Given the description of an element on the screen output the (x, y) to click on. 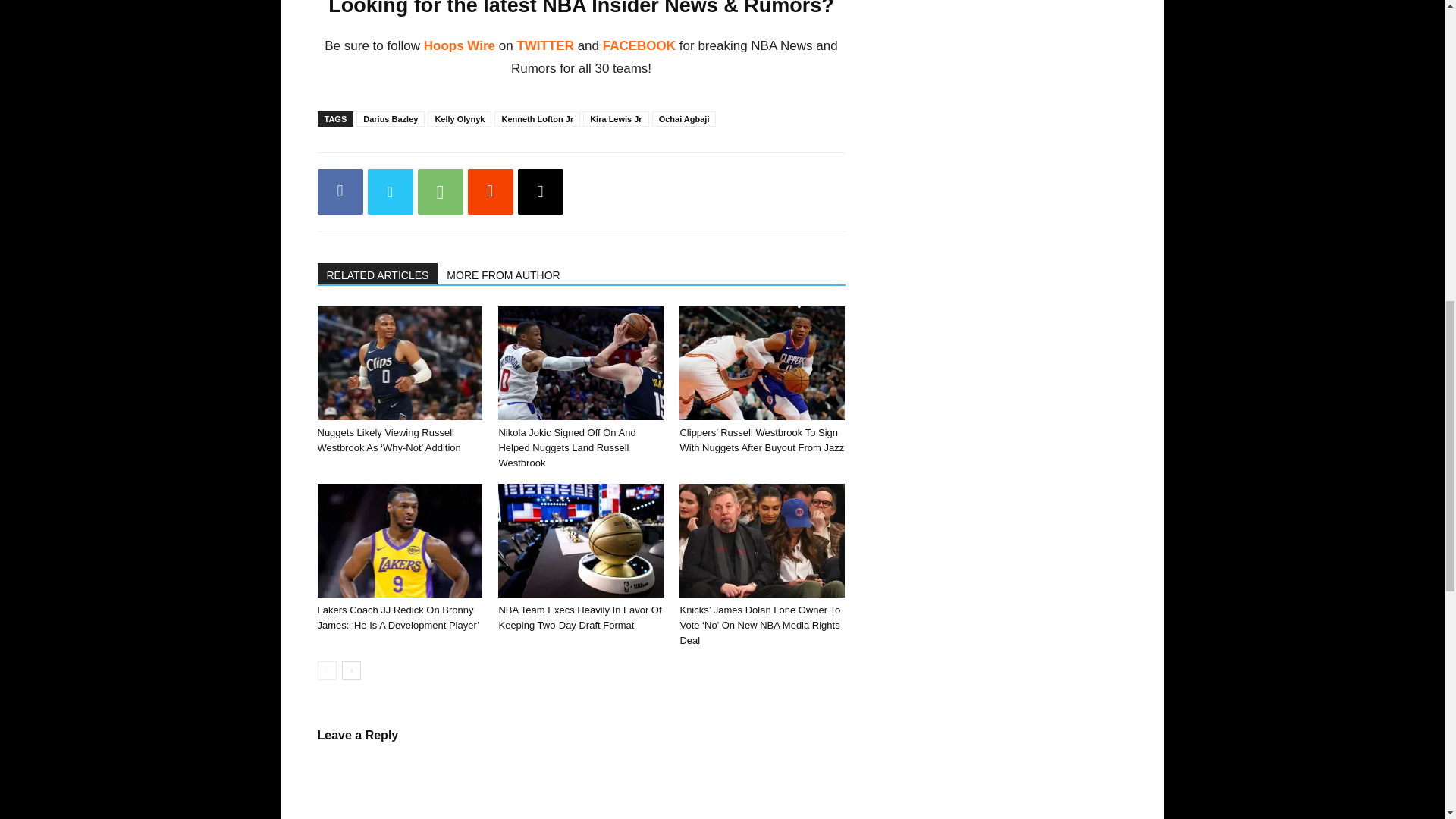
Facebook (339, 191)
Twitter (389, 191)
Email (539, 191)
ReddIt (489, 191)
WhatsApp (439, 191)
